Given the description of an element on the screen output the (x, y) to click on. 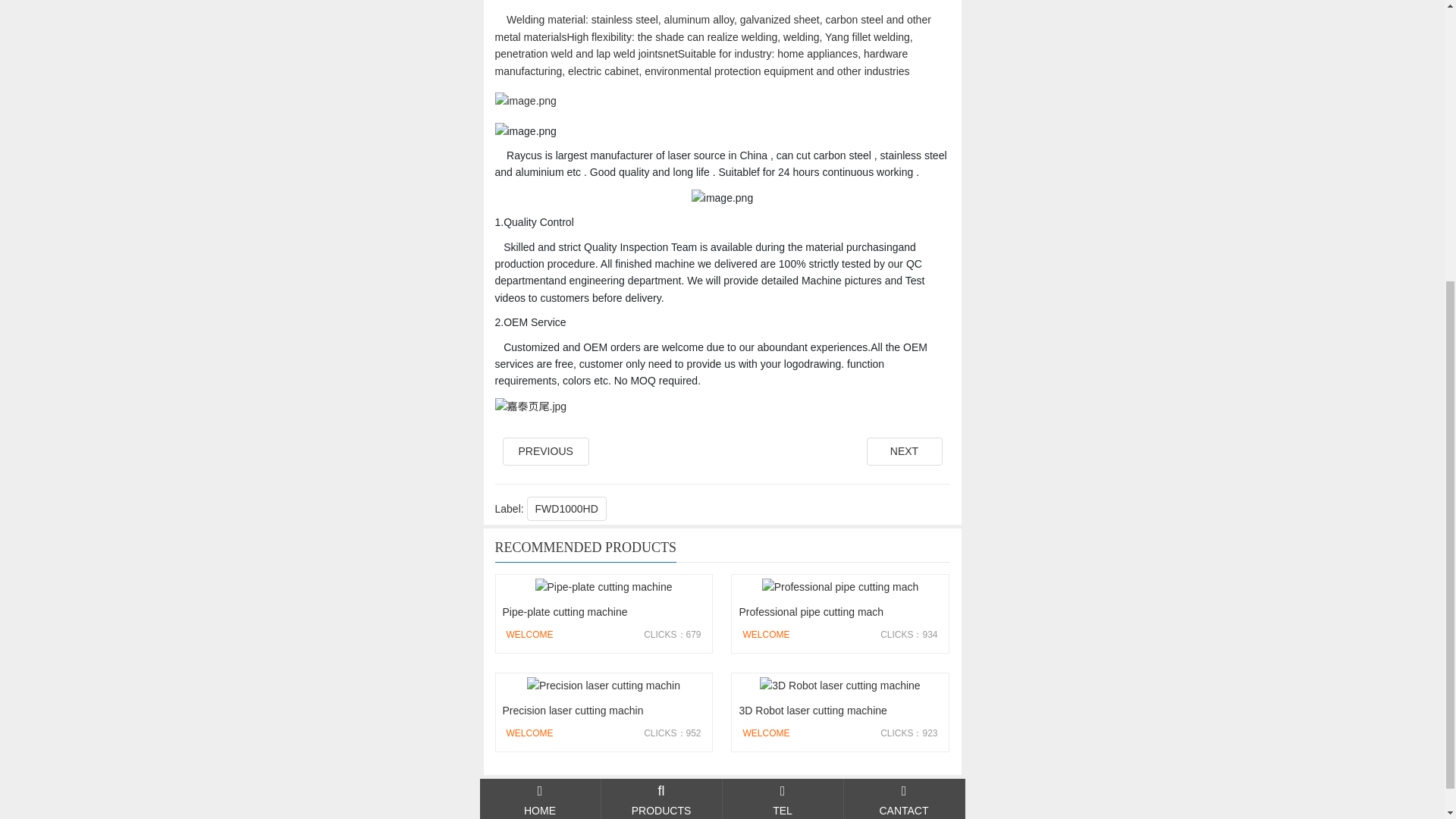
1661329749903237.png (525, 130)
Professional pipe cutting mach (839, 613)
Pipe-plate cutting machine (603, 613)
Precision laser cutting machin (603, 712)
PREVIOUS (545, 451)
PRODUCTS (903, 363)
CANTACT (782, 363)
1661330056247604.png (721, 197)
Laser welding machine (904, 451)
1662100126503902.jpg (530, 406)
Powered by EyouCms (803, 790)
Ag spot welding metal letter spot welding machine (545, 451)
FWD1000HD (567, 508)
NEXT (904, 451)
HOME (539, 363)
